Given the description of an element on the screen output the (x, y) to click on. 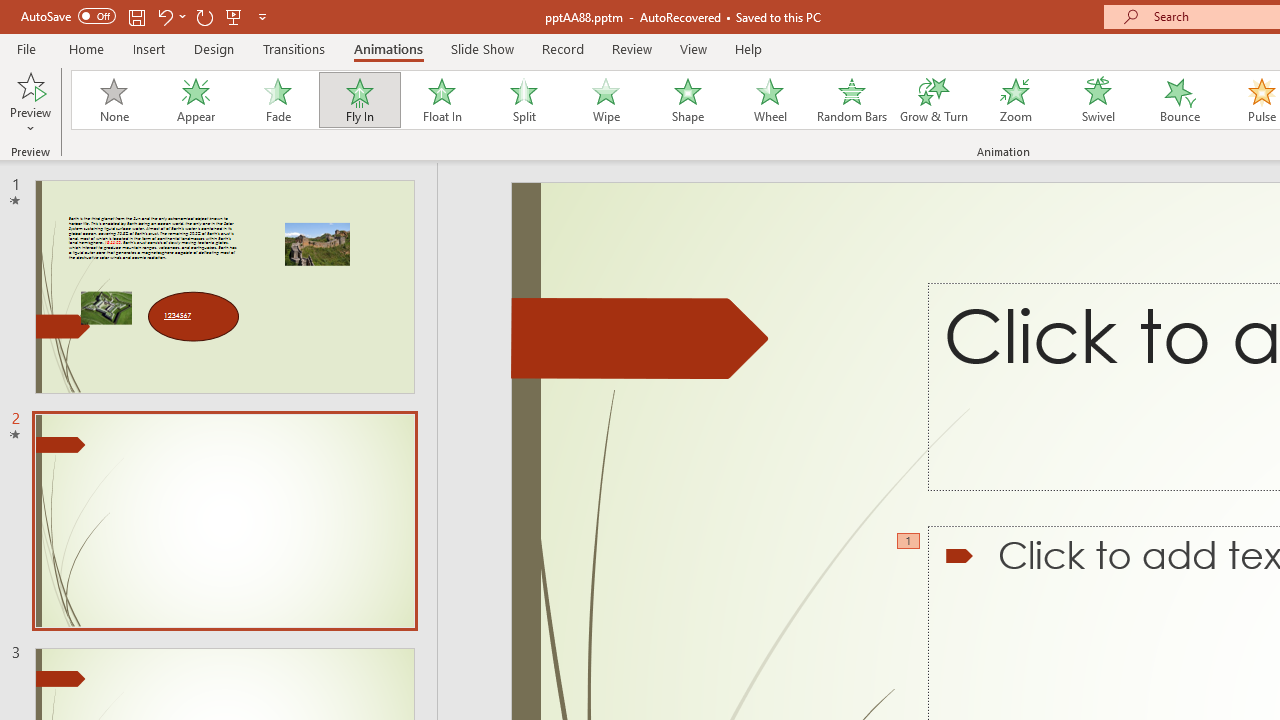
Float In (441, 100)
Fade (277, 100)
Fly In (359, 100)
Appear (195, 100)
Random Bars (852, 100)
